Given the description of an element on the screen output the (x, y) to click on. 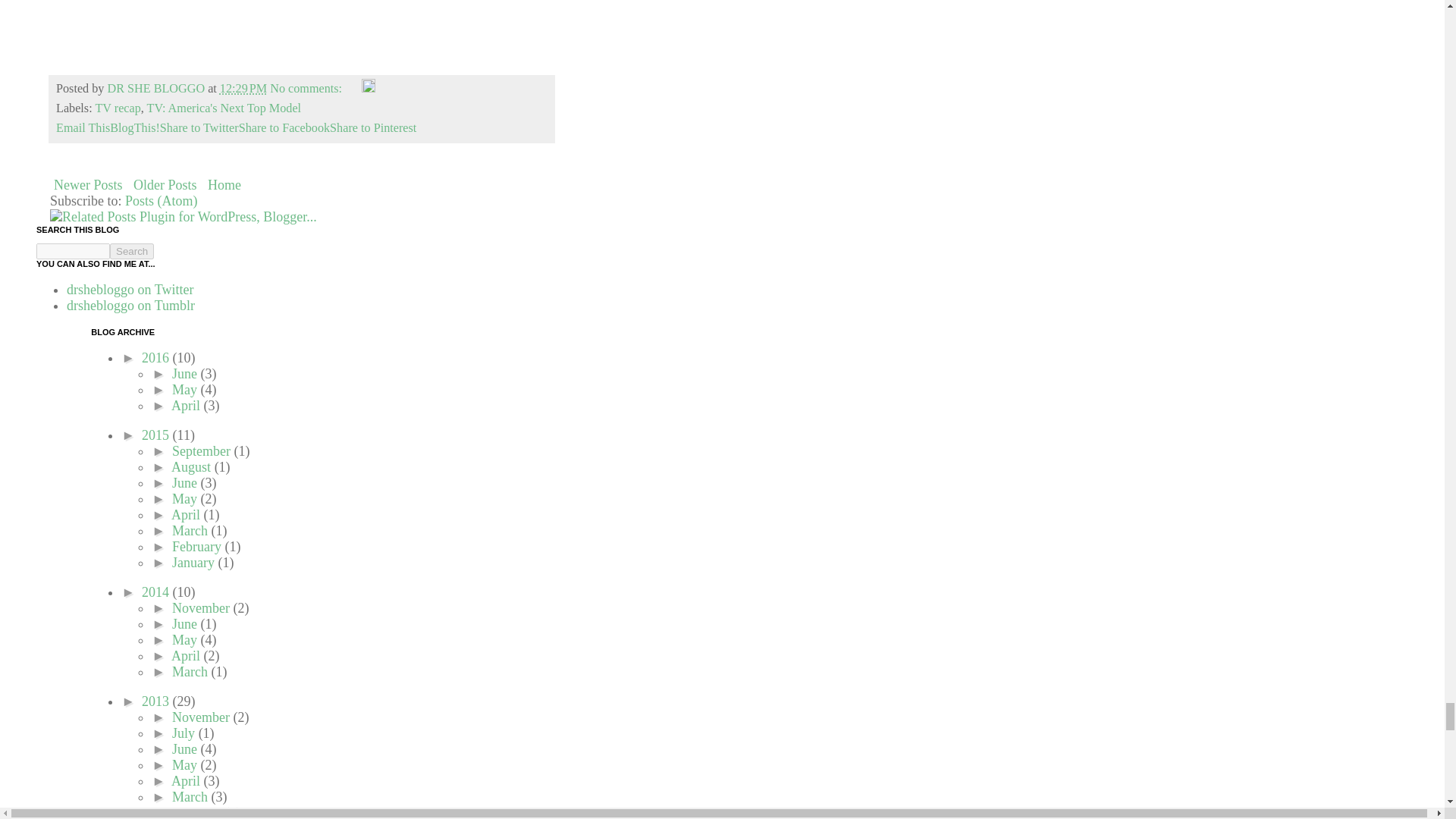
Search (132, 251)
Search (132, 251)
